Given the description of an element on the screen output the (x, y) to click on. 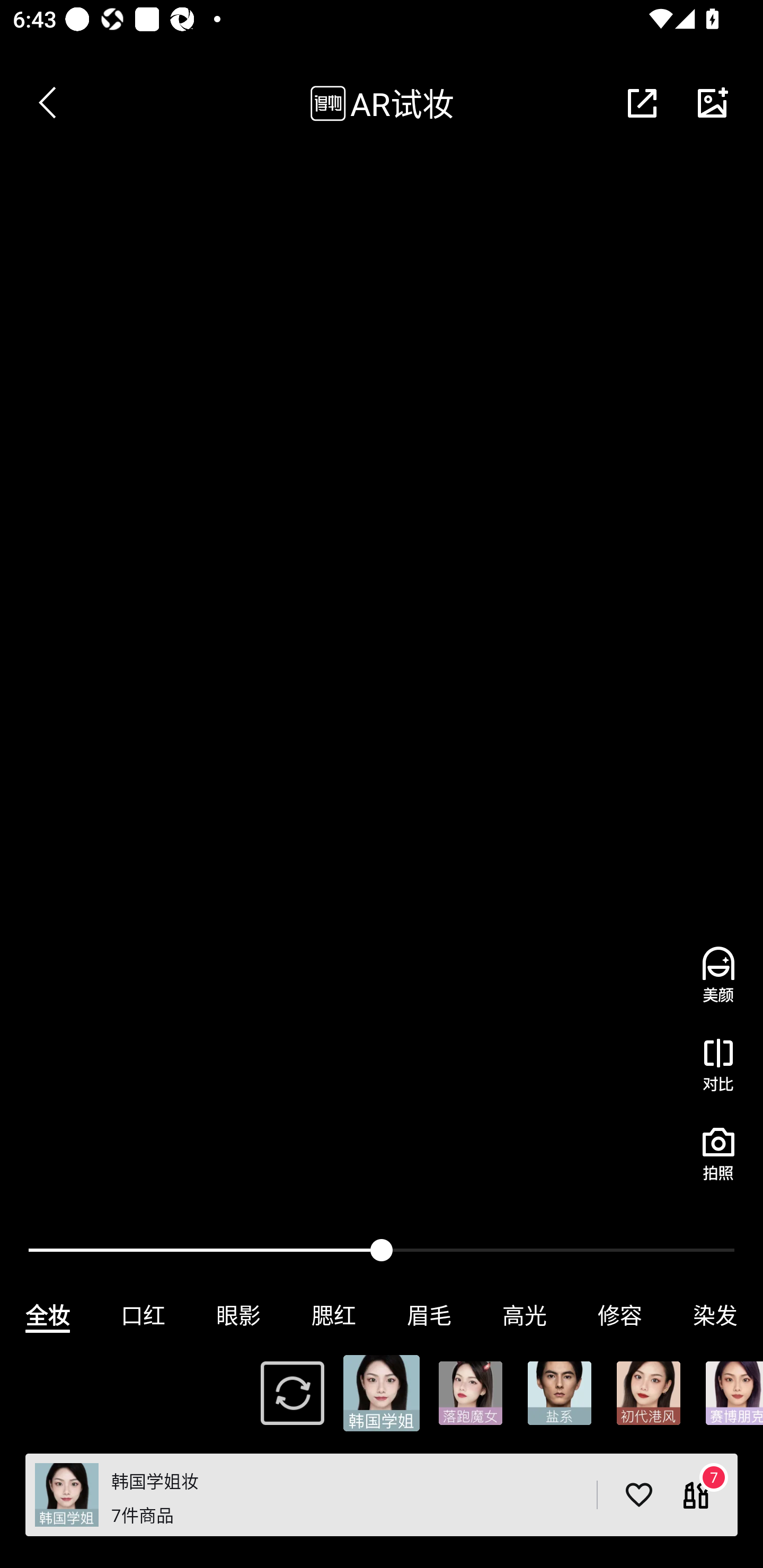
全妆 (47, 1315)
口红 (142, 1315)
眼影 (238, 1315)
腮红 (333, 1315)
眉毛 (428, 1315)
高光 (524, 1315)
修容 (619, 1315)
染发 (715, 1315)
韩国学姐妆 7件商品 6 (381, 1494)
